Given the description of an element on the screen output the (x, y) to click on. 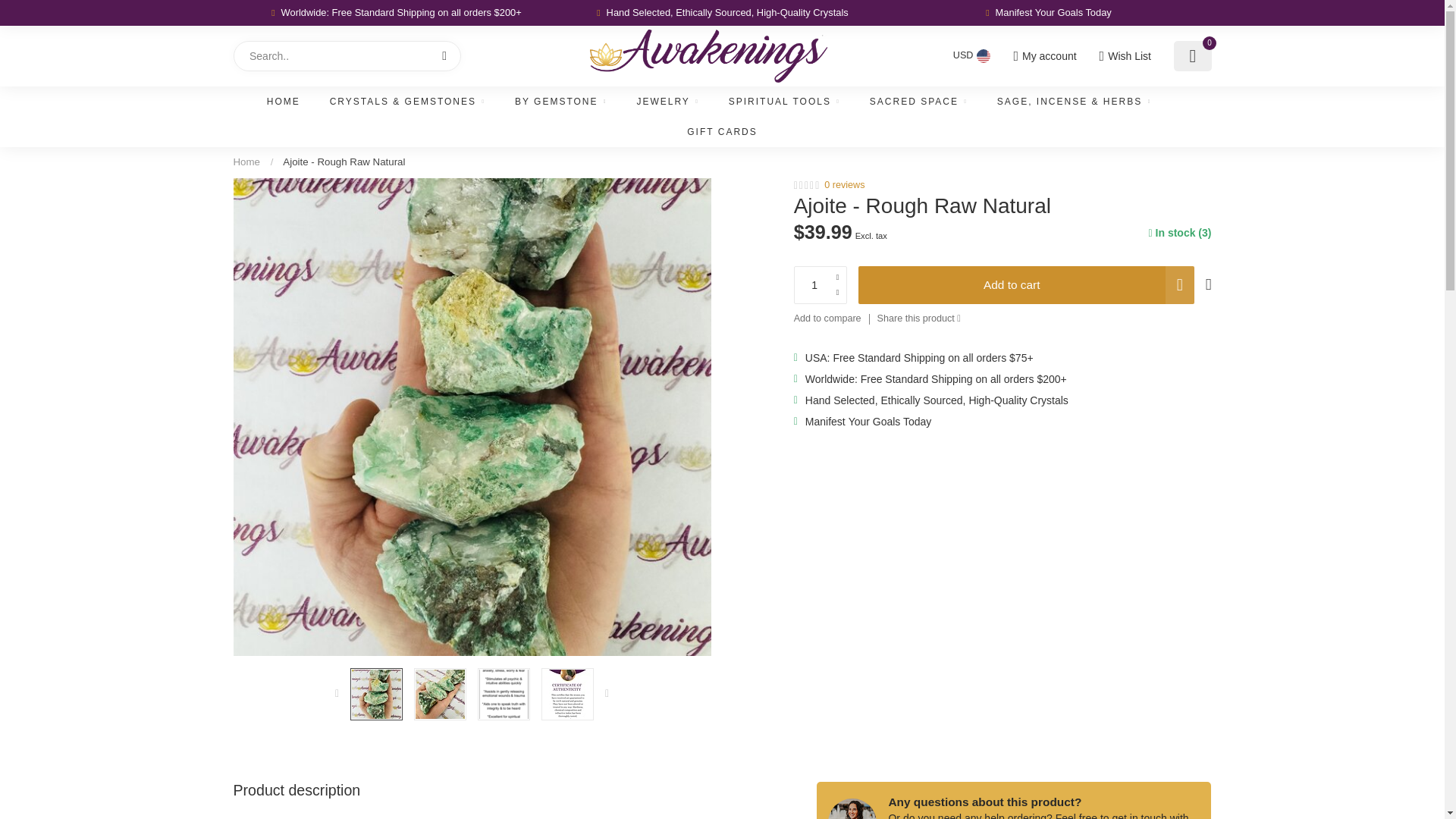
1 (820, 284)
Home (246, 161)
0 (1192, 55)
BY GEMSTONE (561, 101)
My account (1044, 55)
Wish List (1124, 55)
1 (1060, 244)
Wish List (1124, 55)
HOME (282, 101)
